Given the description of an element on the screen output the (x, y) to click on. 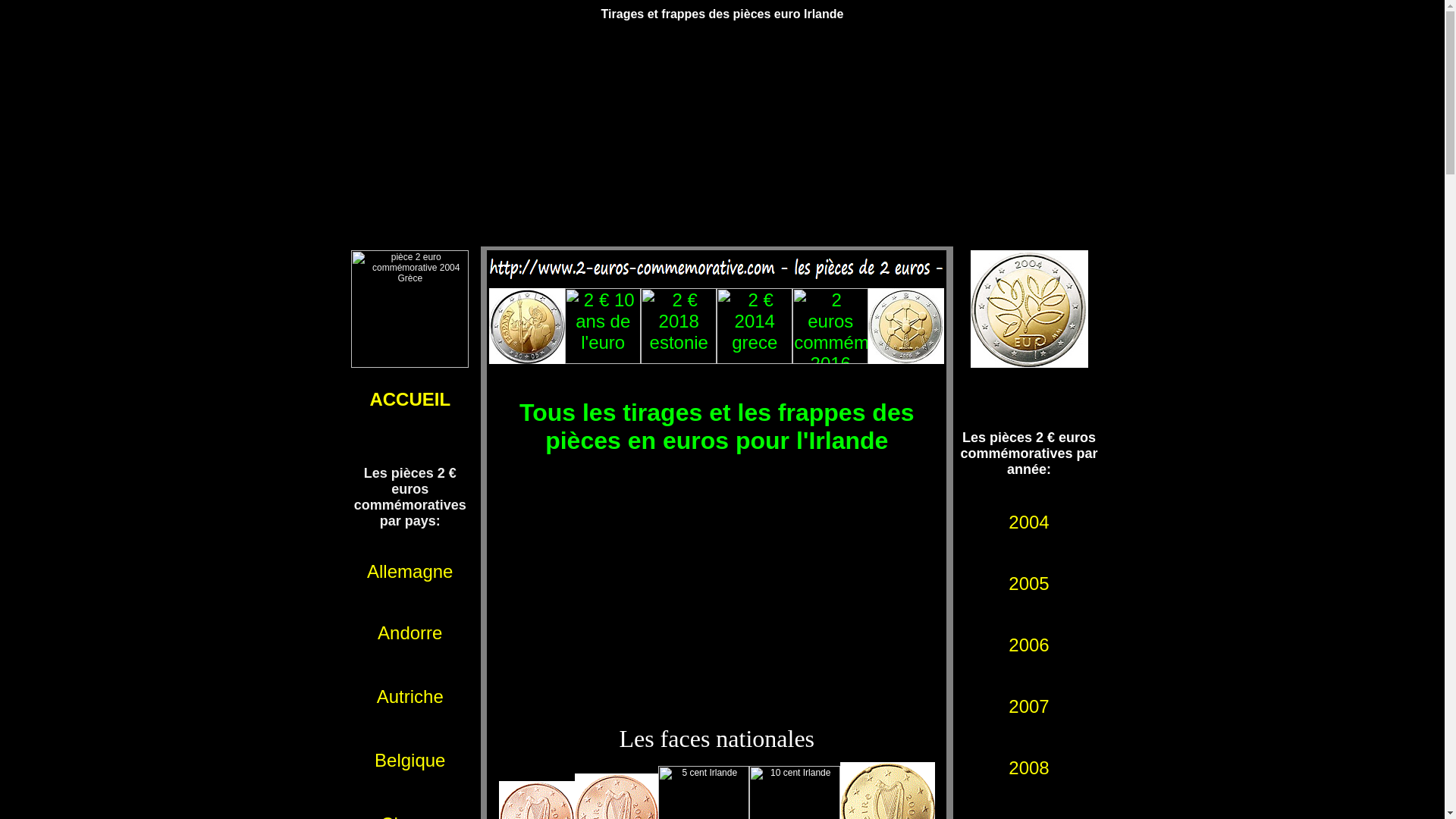
2007 Element type: text (1028, 709)
Advertisement Element type: hover (716, 589)
2008 Element type: text (1028, 770)
Belgique Element type: text (409, 773)
ACCUEIL Element type: text (409, 413)
2004 Element type: text (1028, 525)
Allemagne Element type: text (409, 574)
Advertisement Element type: hover (721, 139)
Autriche Element type: text (409, 709)
2006 Element type: text (1028, 647)
Andorre Element type: text (409, 635)
2005 Element type: text (1028, 586)
